Given the description of an element on the screen output the (x, y) to click on. 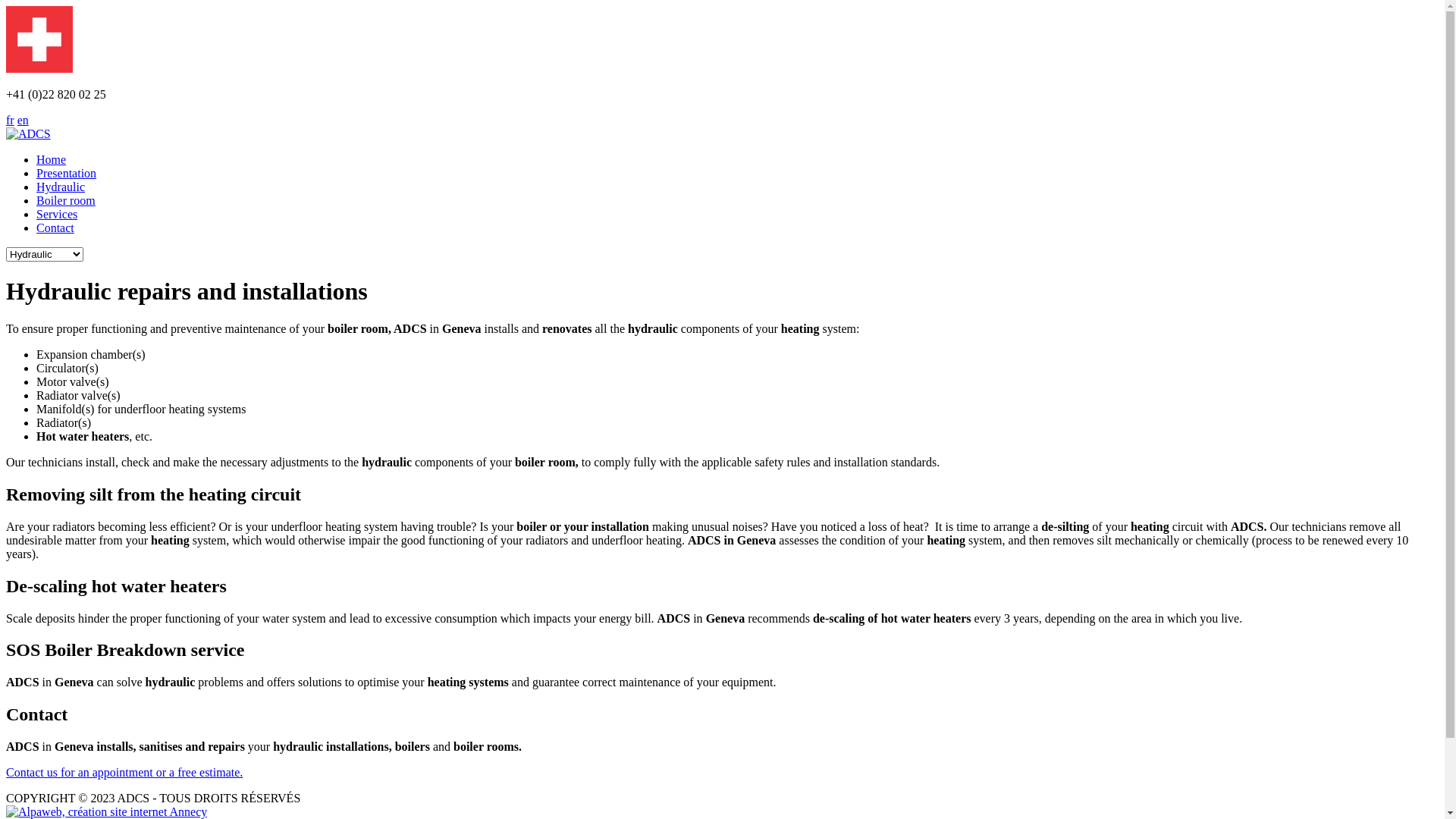
fr Element type: text (10, 119)
Hydraulic Element type: text (60, 186)
Home Element type: text (50, 159)
Contact us for an appointment or a free estimate. Element type: text (124, 771)
Contact Element type: text (55, 227)
Services Element type: text (56, 213)
Agence web Annecy Element type: hover (106, 811)
Presentation Element type: text (66, 172)
Boiler room Element type: text (65, 200)
en Element type: text (22, 119)
